Given the description of an element on the screen output the (x, y) to click on. 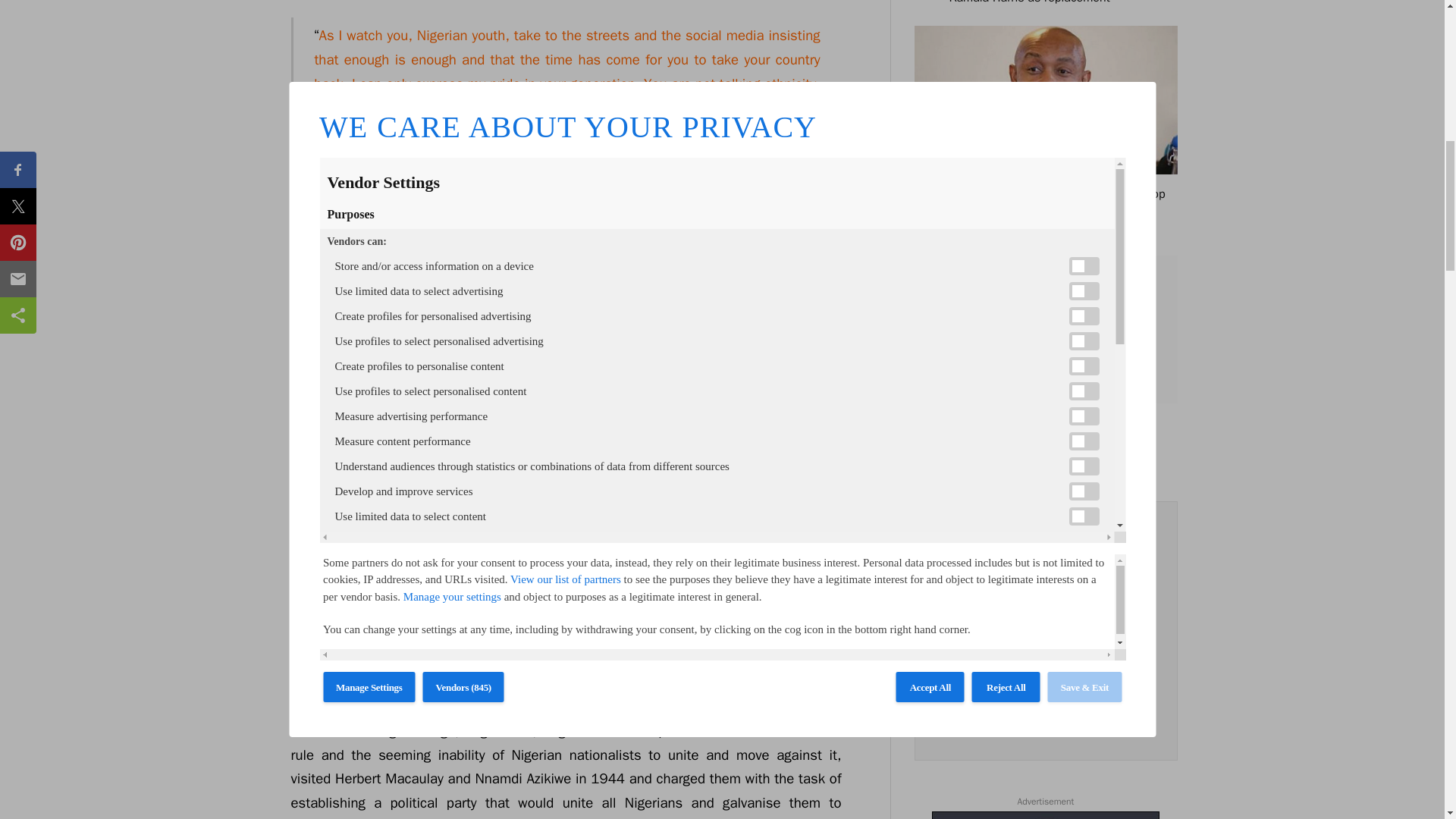
on (947, 712)
Subscribe (1045, 675)
